Given the description of an element on the screen output the (x, y) to click on. 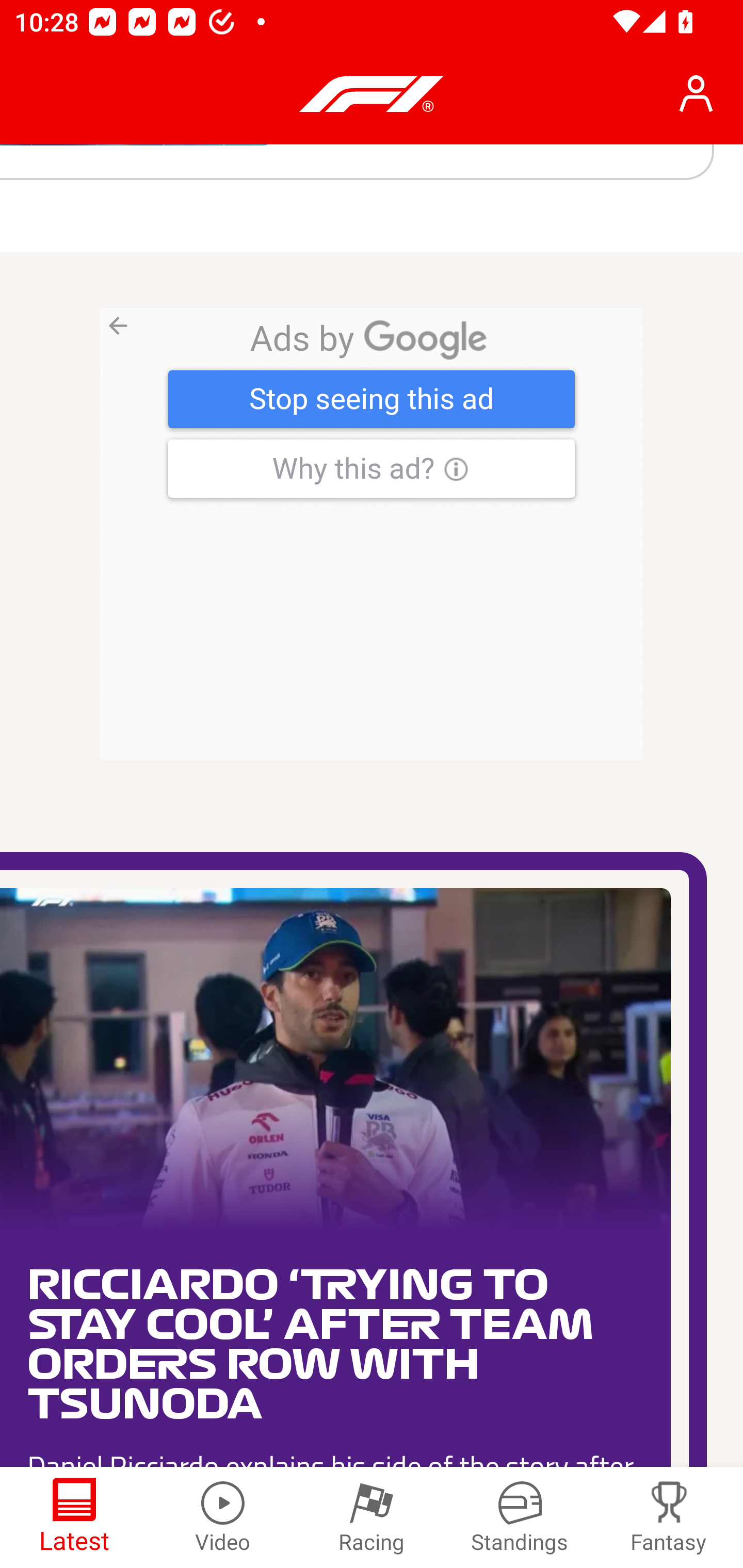
Video (222, 1517)
Racing (371, 1517)
Standings (519, 1517)
Fantasy (668, 1517)
